Given the description of an element on the screen output the (x, y) to click on. 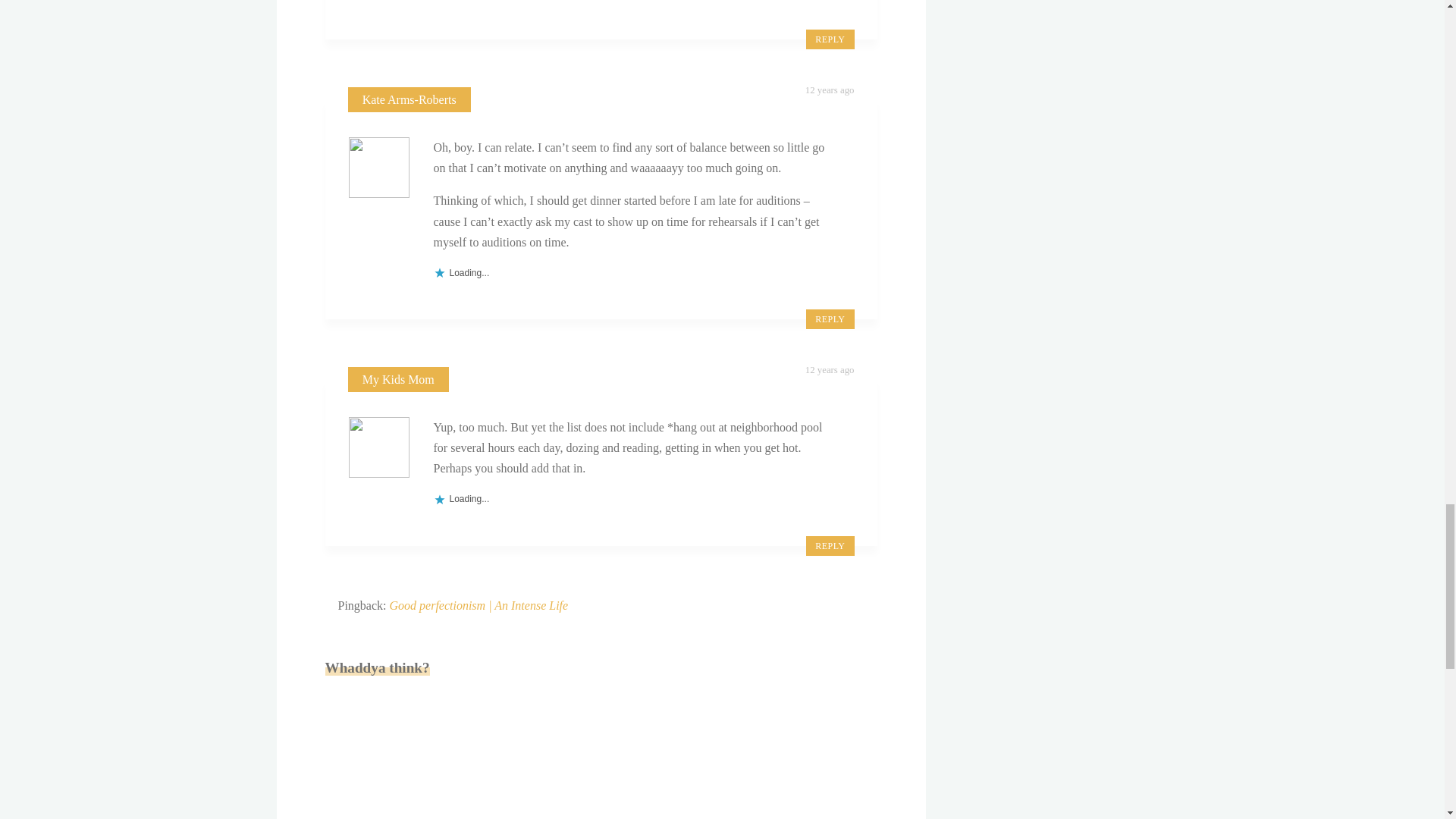
12 years ago (829, 90)
REPLY (829, 39)
Kate Arms-Roberts (409, 99)
REPLY (829, 319)
My Kids Mom (397, 379)
12 years ago (829, 369)
